Given the description of an element on the screen output the (x, y) to click on. 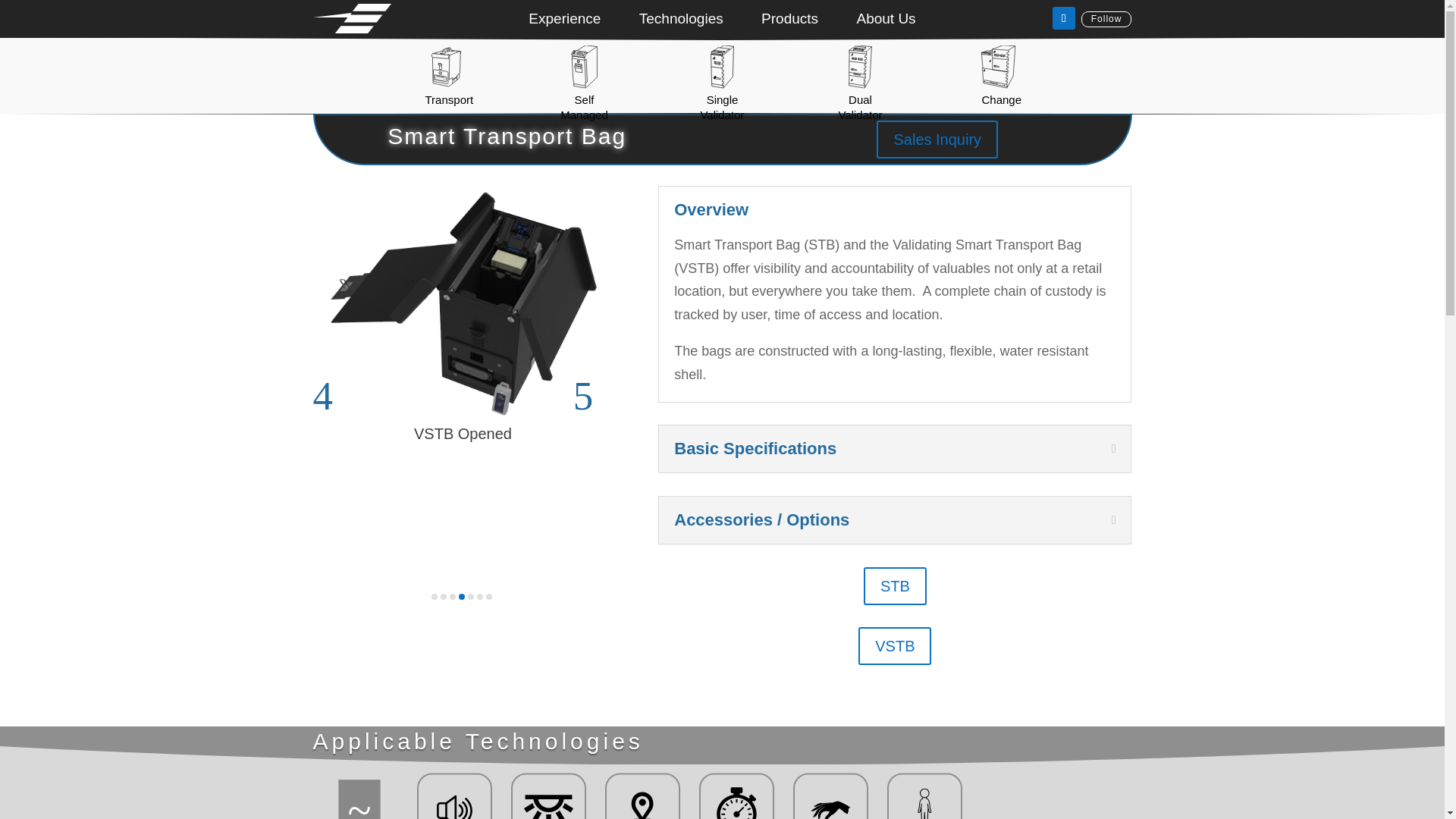
Change (1001, 99)
Transport (449, 99)
STB (894, 586)
Sales Inquiry (936, 139)
Single Validator (722, 107)
Self Managed (584, 107)
Products (789, 21)
Experience (563, 21)
About Us (885, 21)
Technologies (681, 21)
VSTB (895, 646)
Follow on LinkedIn (1063, 17)
Follow (1106, 19)
Dual Validator (860, 107)
LinkedIn (1106, 19)
